Given the description of an element on the screen output the (x, y) to click on. 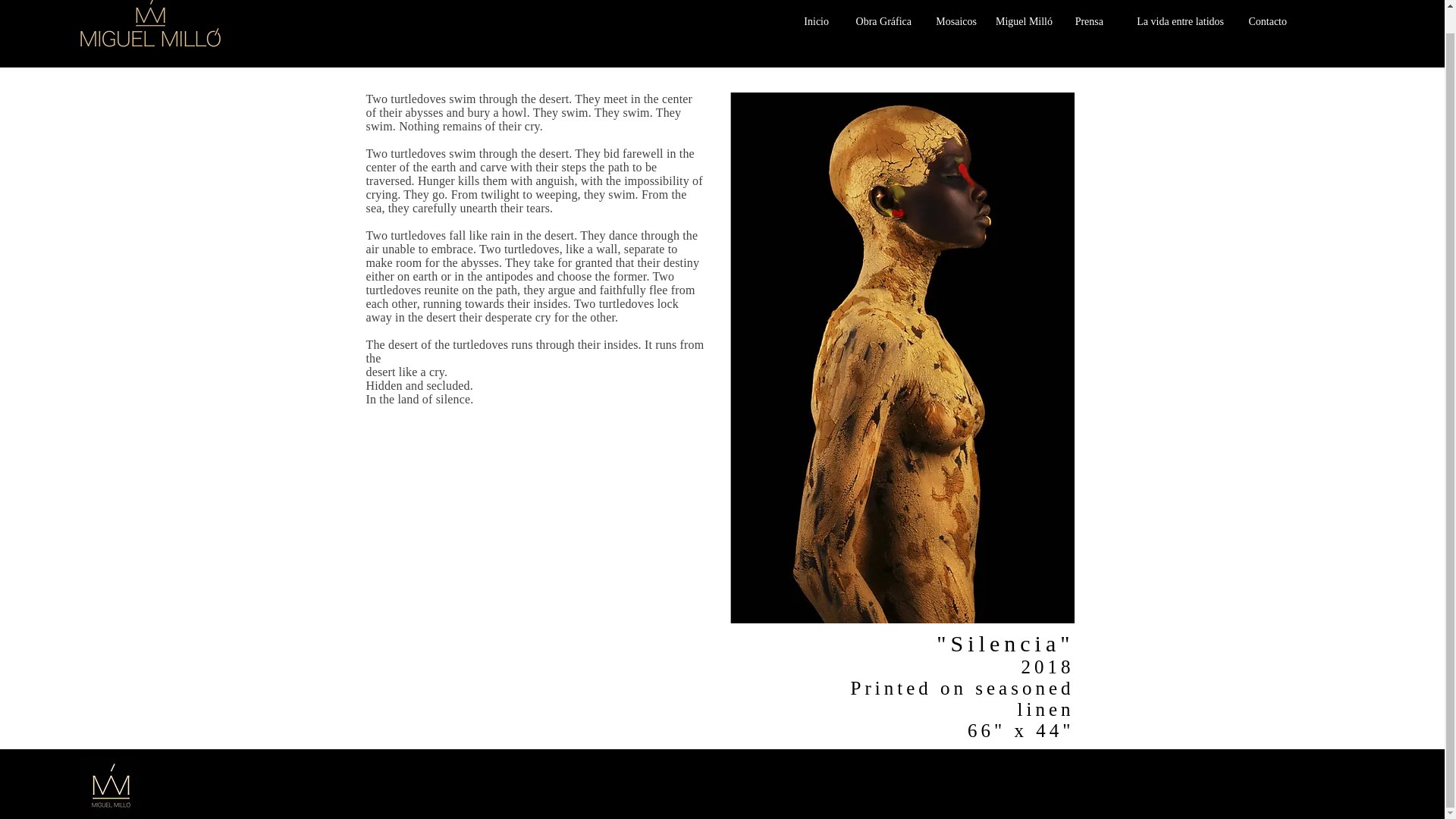
Prensa (1084, 21)
Contacto (1262, 21)
Inicio (814, 21)
La vida entre latidos (1170, 21)
Mosaicos (951, 21)
